Given the description of an element on the screen output the (x, y) to click on. 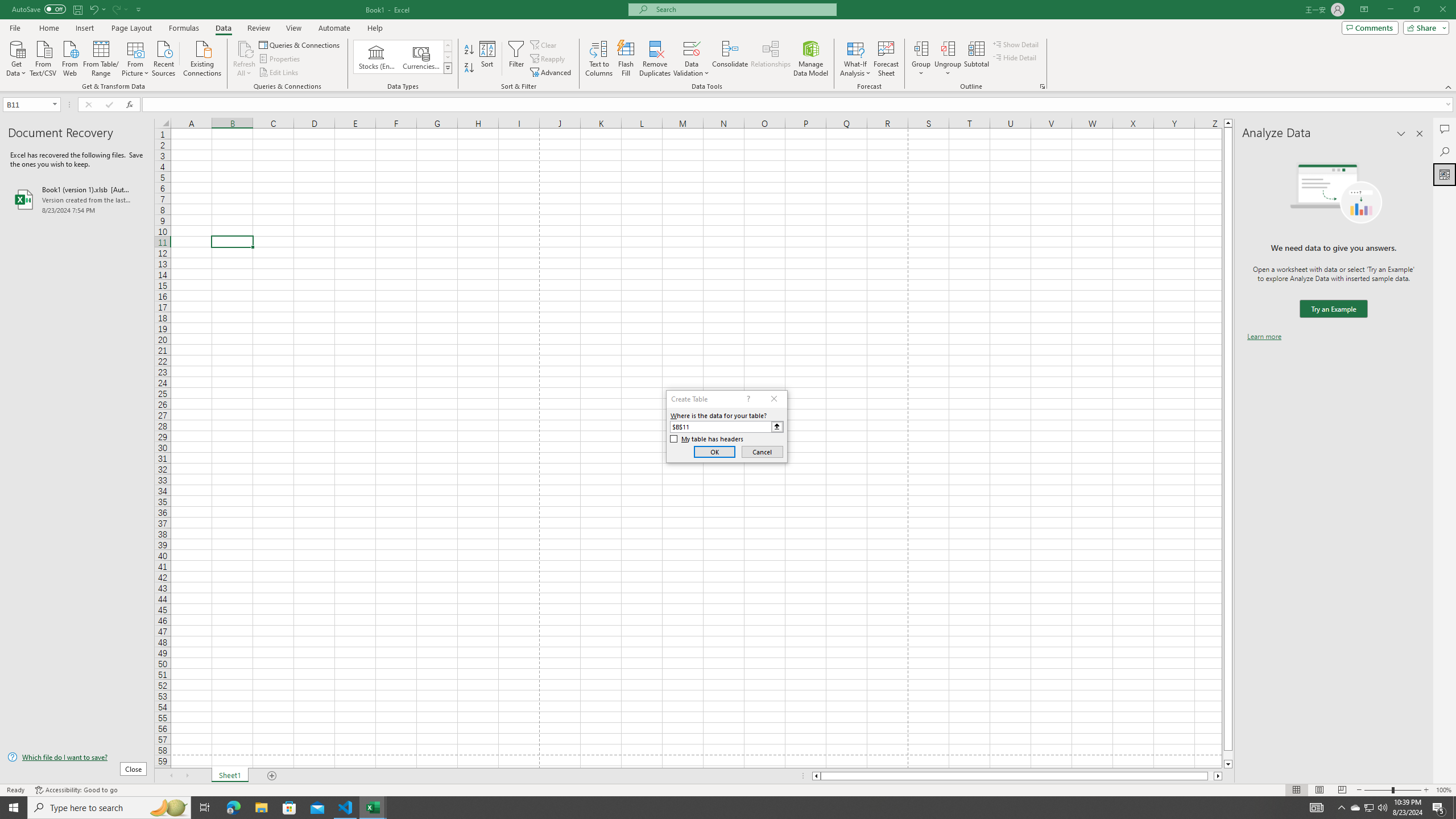
Page Break Preview (1342, 790)
Sort Z to A (469, 67)
Zoom Out (1377, 790)
Restore Down (1416, 9)
Consolidate... (729, 58)
Queries & Connections (300, 44)
AutomationID: ConvertToLinkedEntity (403, 56)
Ungroup... (947, 48)
Search (1444, 151)
Open (54, 104)
Zoom In (1426, 790)
We need data to give you answers. Try an Example (1333, 308)
Ungroup... (947, 58)
Hide Detail (1014, 56)
